Given the description of an element on the screen output the (x, y) to click on. 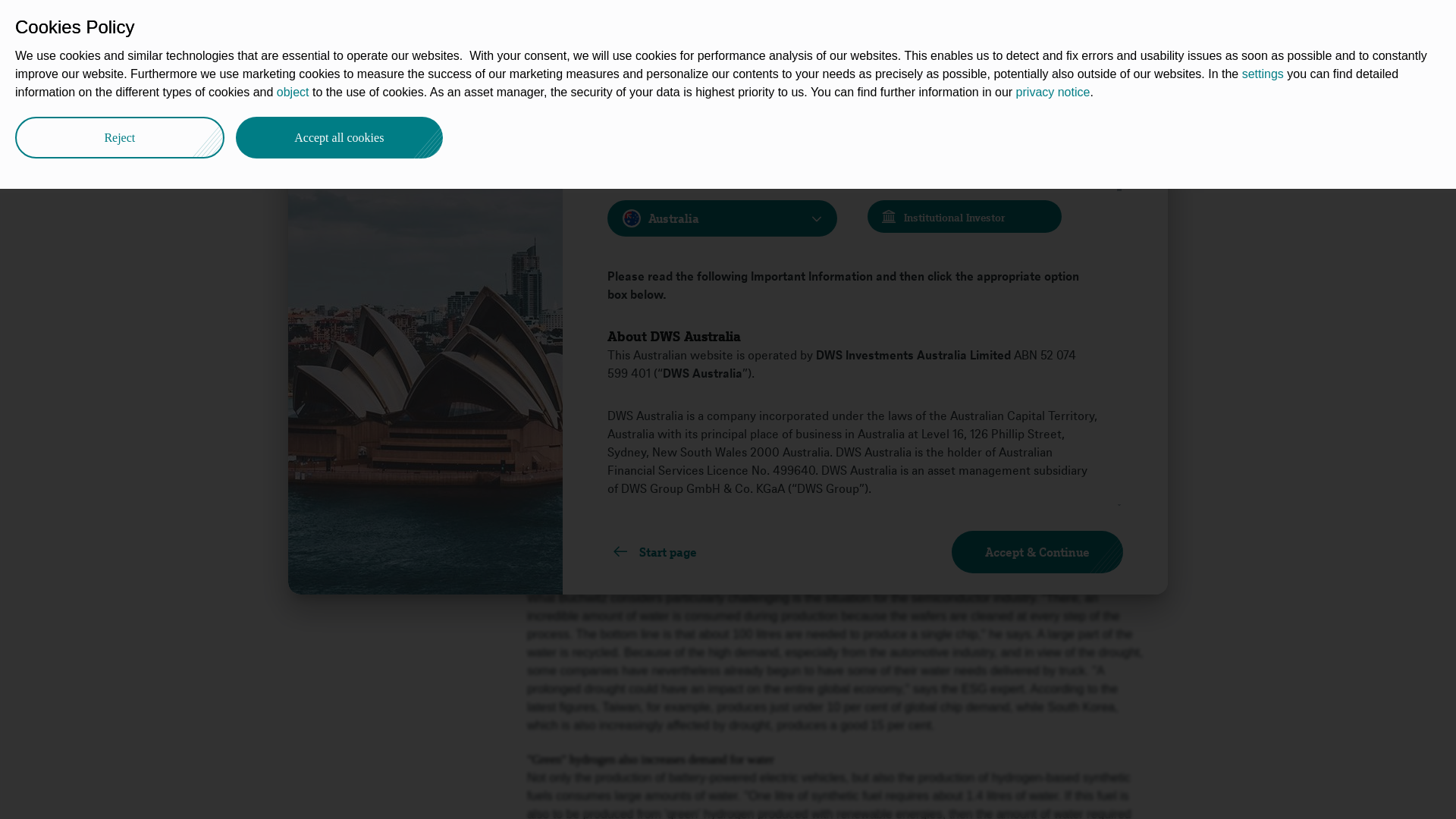
DWS - Investors for a new now (307, 92)
Media Releases (483, 92)
Share (1140, 90)
Solutions (580, 24)
Home (307, 92)
Media (408, 92)
Share (315, 181)
Capabilities (498, 24)
Profile (358, 92)
Profile (358, 92)
Media Releases (483, 92)
Media (408, 92)
